Given the description of an element on the screen output the (x, y) to click on. 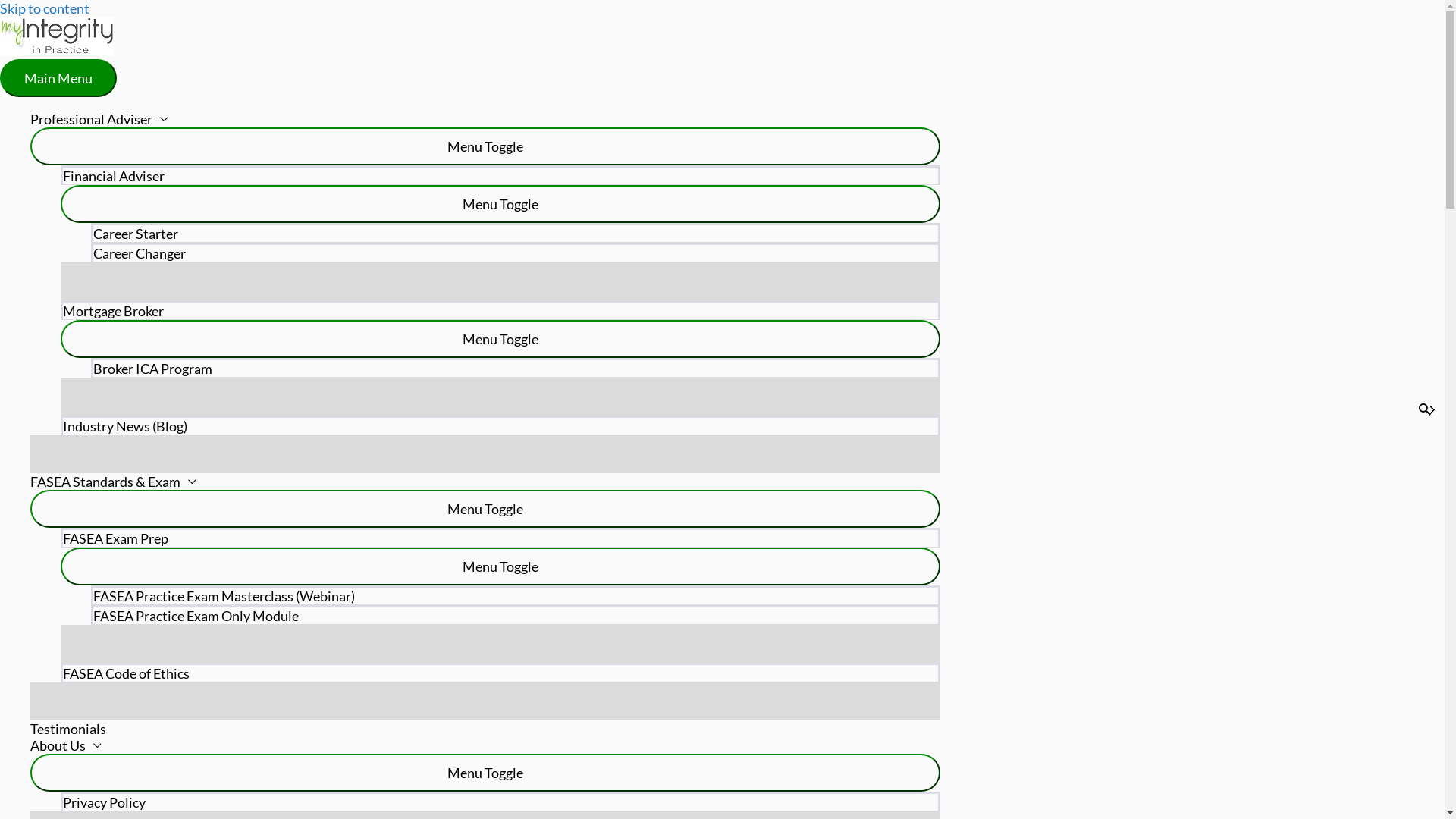
Skip to content Element type: text (44, 8)
Menu Toggle Element type: text (485, 772)
Testimonials Element type: text (485, 728)
Professional Adviser Element type: text (485, 118)
Menu Toggle Element type: text (485, 146)
Mortgage Broker Element type: text (500, 310)
FASEA Exam Prep Element type: text (500, 537)
Industry News (Blog) Element type: text (500, 425)
Career Changer Element type: text (515, 252)
Menu Toggle Element type: text (500, 566)
Menu Toggle Element type: text (500, 203)
Financial Adviser Element type: text (500, 175)
About Us Element type: text (485, 745)
Career Starter Element type: text (515, 232)
FASEA Practice Exam Masterclass (Webinar) Element type: text (515, 595)
Menu Toggle Element type: text (485, 508)
Menu Toggle Element type: text (500, 338)
FASEA Practice Exam Only Module Element type: text (515, 614)
FASEA Standards & Exam Element type: text (485, 481)
Privacy Policy Element type: text (500, 801)
FASEA Code of Ethics Element type: text (500, 672)
Main Menu Element type: text (58, 78)
Broker ICA Program Element type: text (515, 367)
